Given the description of an element on the screen output the (x, y) to click on. 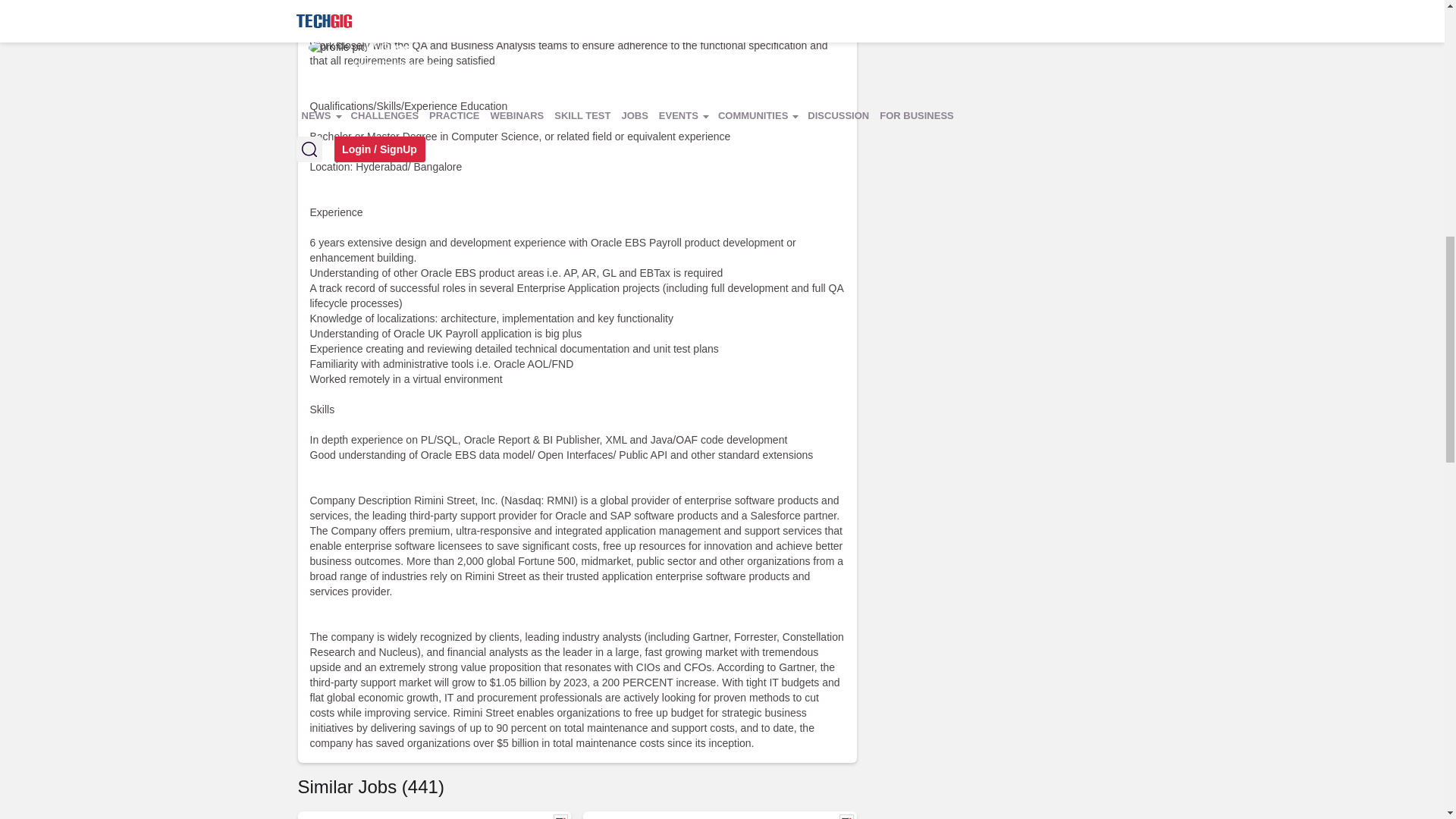
Sourced from TJ (846, 816)
Sourced from TJ (560, 816)
